Given the description of an element on the screen output the (x, y) to click on. 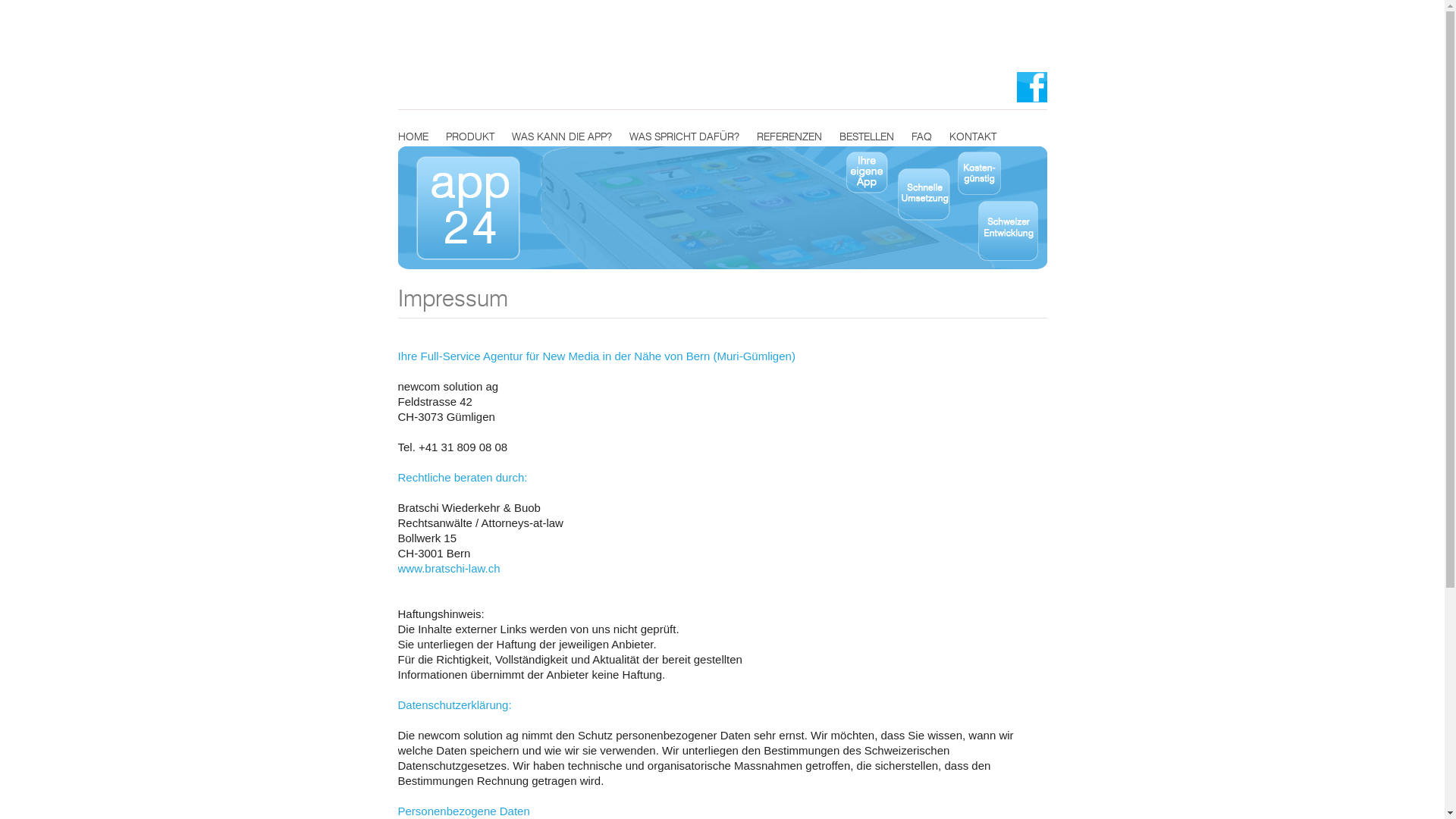
HOME Element type: text (412, 136)
www.bratschi-law.ch Element type: text (448, 567)
FAQ Element type: text (921, 136)
WAS KANN DIE APP? Element type: text (561, 136)
KONTAKT Element type: text (972, 136)
app24 auf Facebook Element type: hover (1031, 78)
REFERENZEN Element type: text (789, 136)
BESTELLEN Element type: text (865, 136)
PRODUKT Element type: text (469, 136)
